Given the description of an element on the screen output the (x, y) to click on. 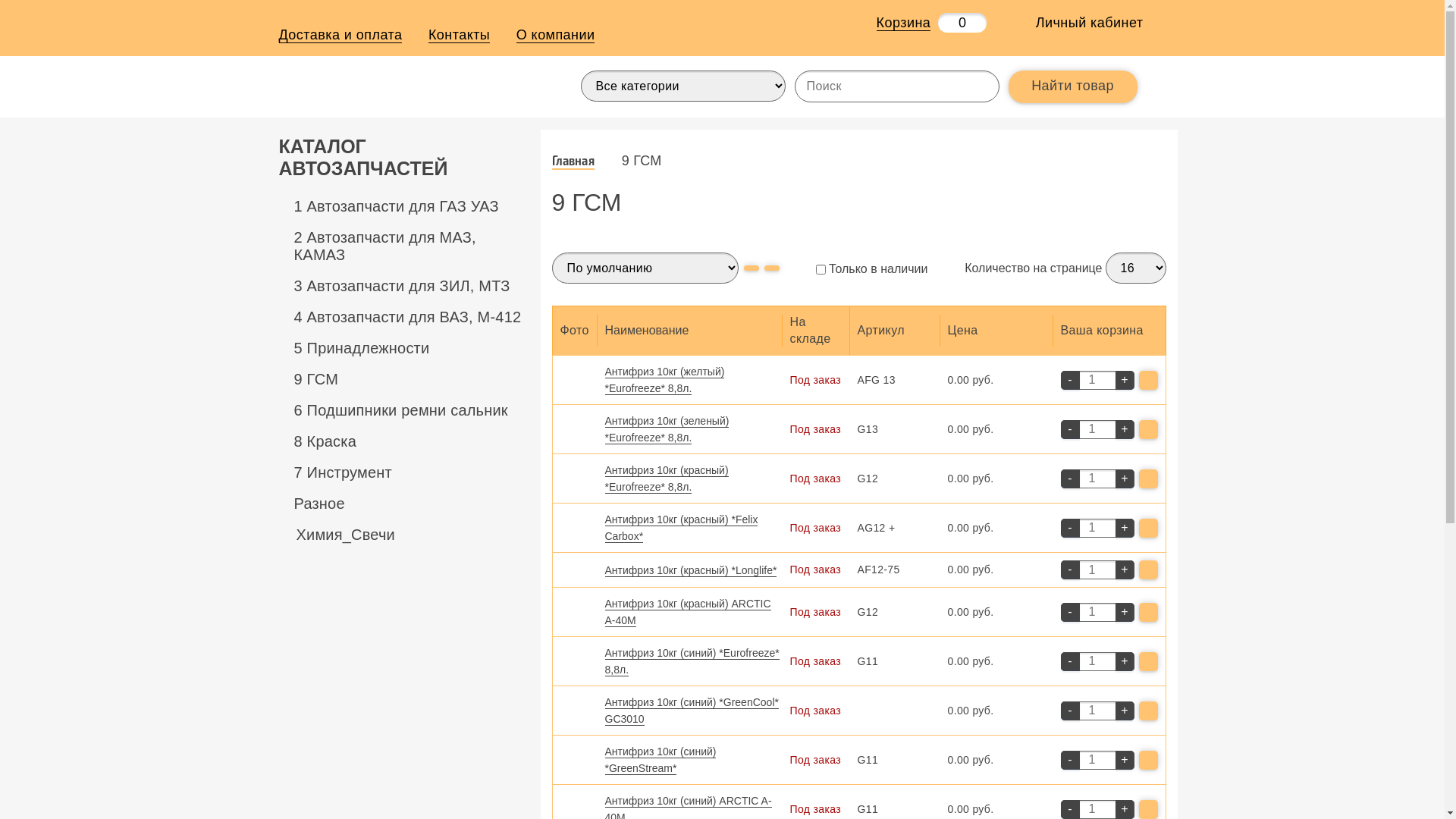
+ Element type: text (1123, 379)
- Element type: text (1069, 527)
+ Element type: text (1123, 429)
+ Element type: text (1123, 611)
- Element type: text (1069, 661)
+ Element type: text (1123, 710)
- Element type: text (1069, 379)
- Element type: text (1069, 429)
- Element type: text (1069, 759)
+ Element type: text (1123, 478)
+ Element type: text (1123, 527)
- Element type: text (1069, 611)
- Element type: text (1069, 478)
+ Element type: text (1123, 569)
- Element type: text (1069, 569)
+ Element type: text (1123, 759)
- Element type: text (1069, 710)
+ Element type: text (1123, 661)
